Given the description of an element on the screen output the (x, y) to click on. 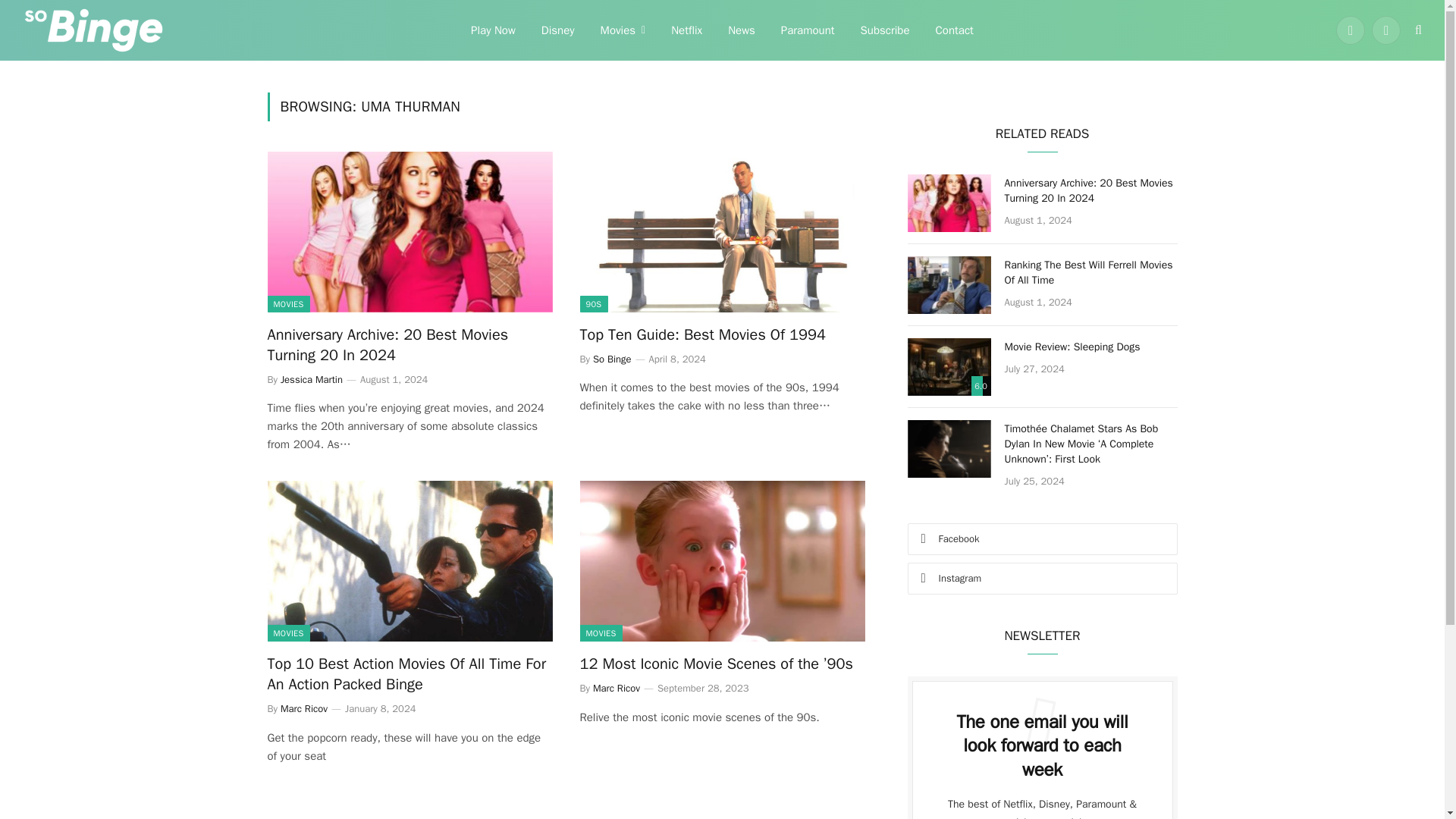
Anniversary Archive: 20 Best Movies Turning 20 In 2024 (408, 231)
Subscribe (885, 30)
Play Now (493, 30)
MOVIES (287, 303)
So Binge (611, 358)
Posts by Jessica Martin (311, 379)
Jessica Martin (311, 379)
Facebook (1350, 30)
Top Ten Guide: Best Movies Of 1994 (721, 334)
Posts by Marc Ricov (304, 707)
